Given the description of an element on the screen output the (x, y) to click on. 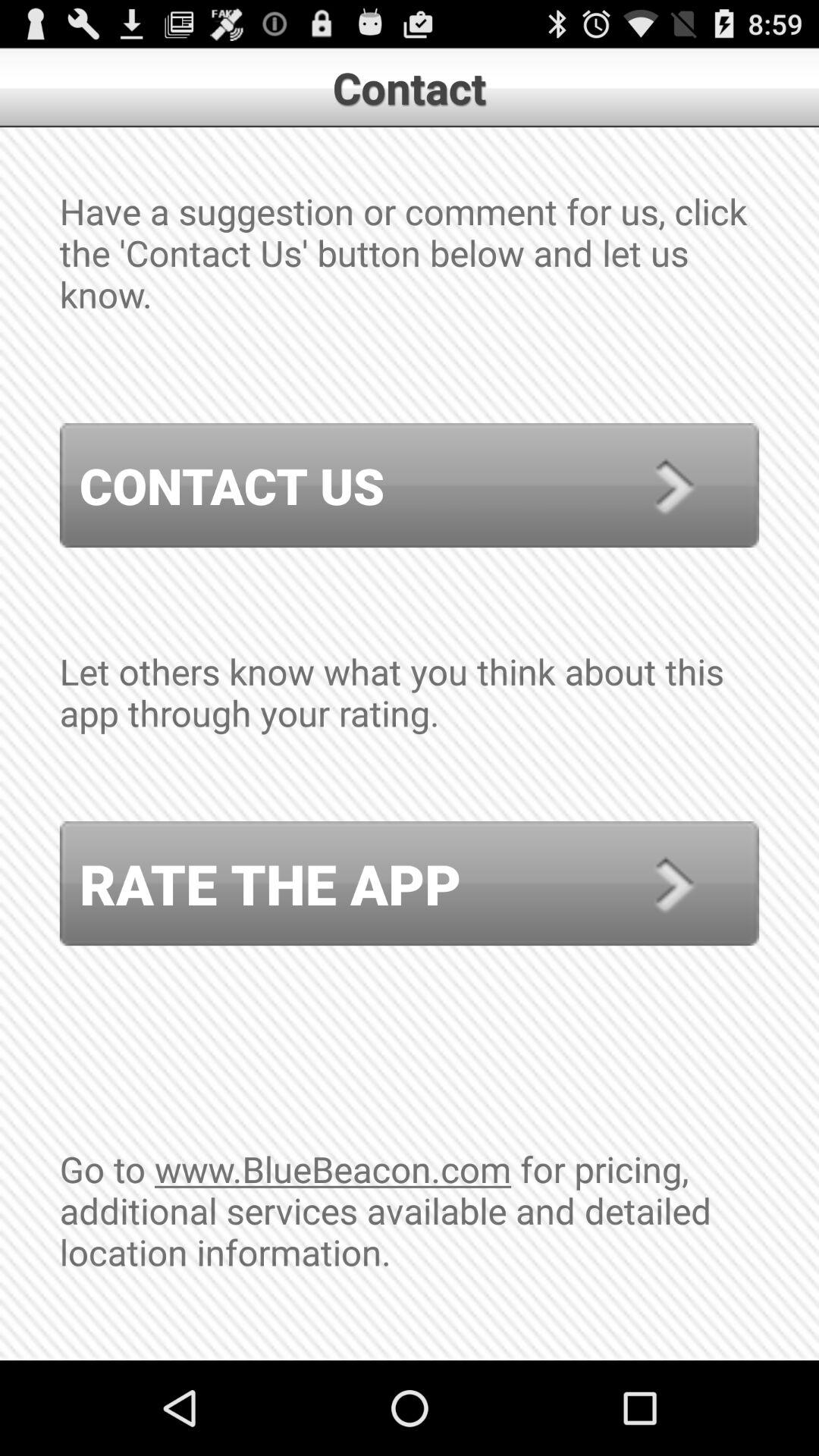
launch item at the bottom (409, 1252)
